Given the description of an element on the screen output the (x, y) to click on. 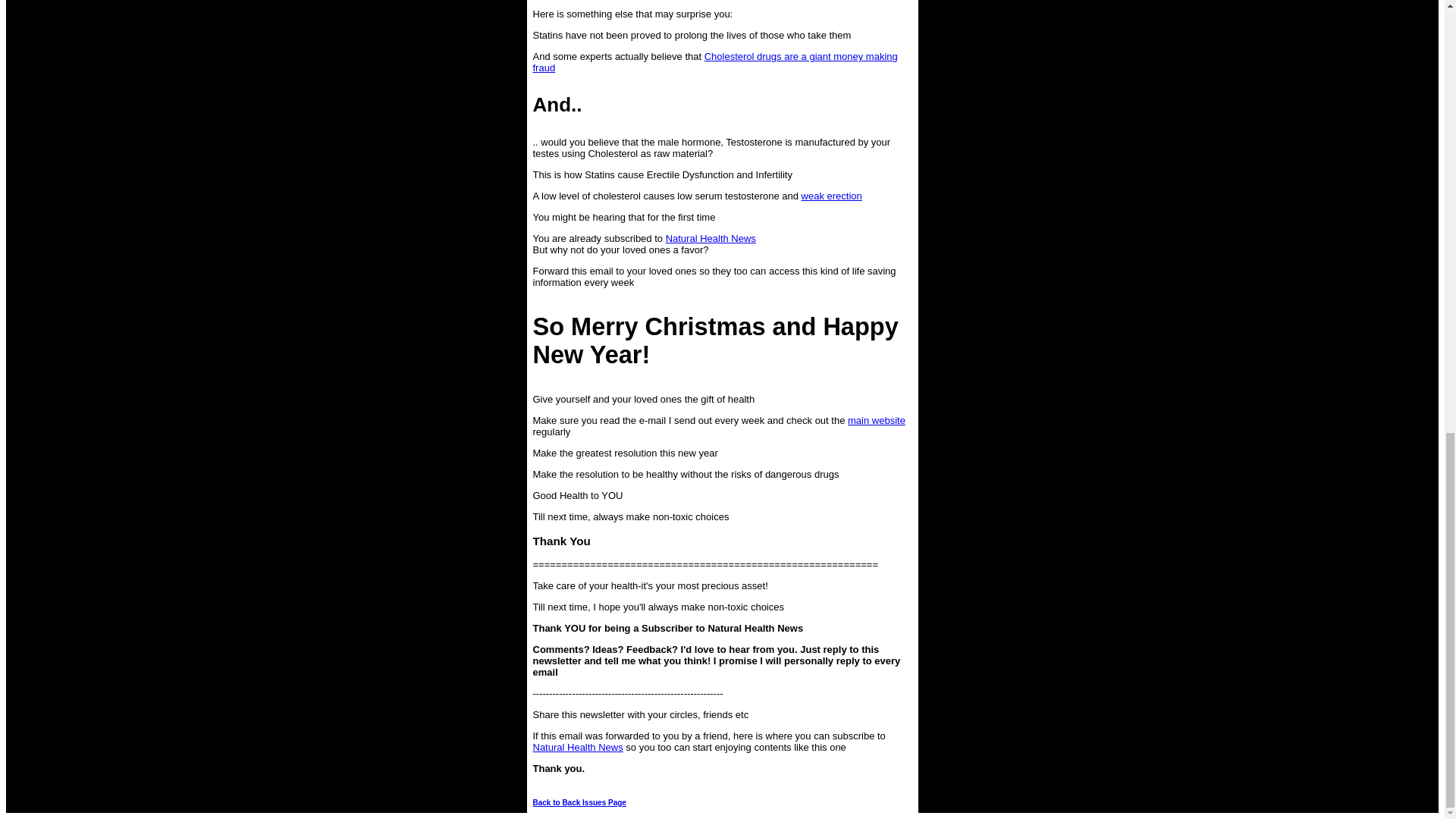
Natural Health News (577, 747)
Back to Back Issues Page (579, 802)
Cholesterol drugs are a giant money making fraud (714, 61)
weak erection (831, 195)
Natural Health News (710, 238)
main website (876, 419)
